Given the description of an element on the screen output the (x, y) to click on. 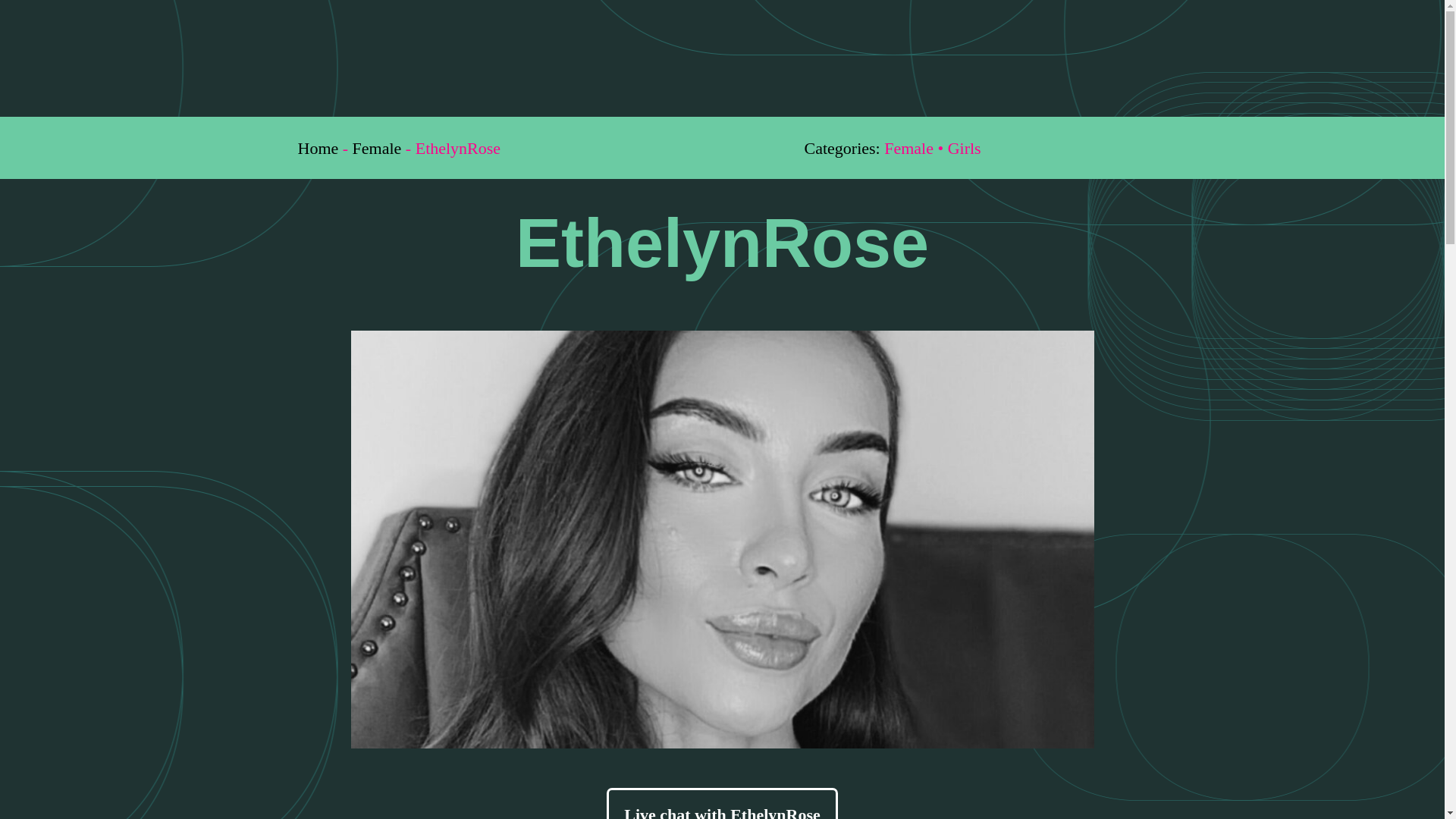
Live chat with EthelynRose (722, 803)
Female (376, 148)
Home (317, 148)
